Given the description of an element on the screen output the (x, y) to click on. 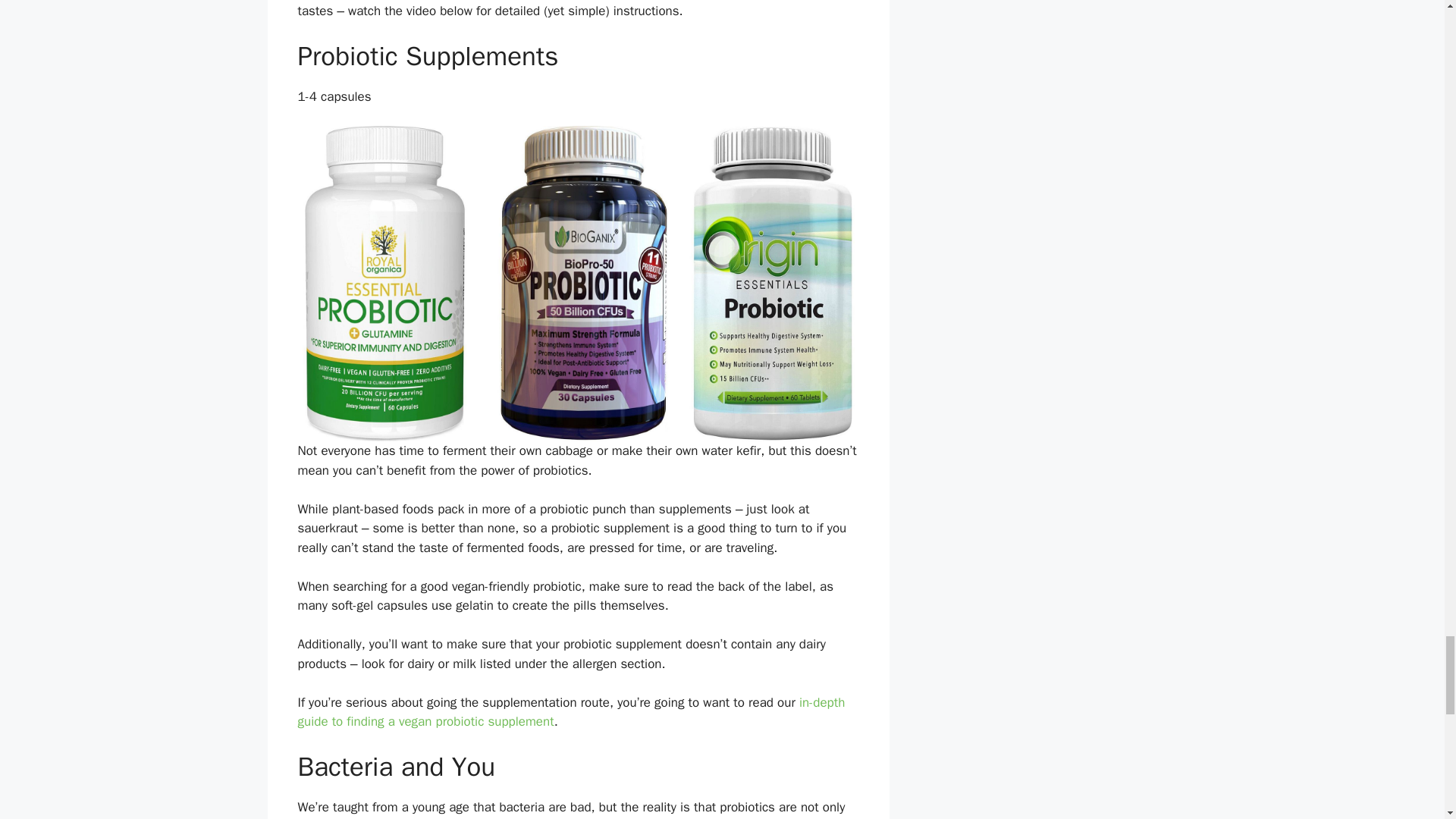
in-depth guide to finding a vegan probiotic supplement (570, 712)
